Given the description of an element on the screen output the (x, y) to click on. 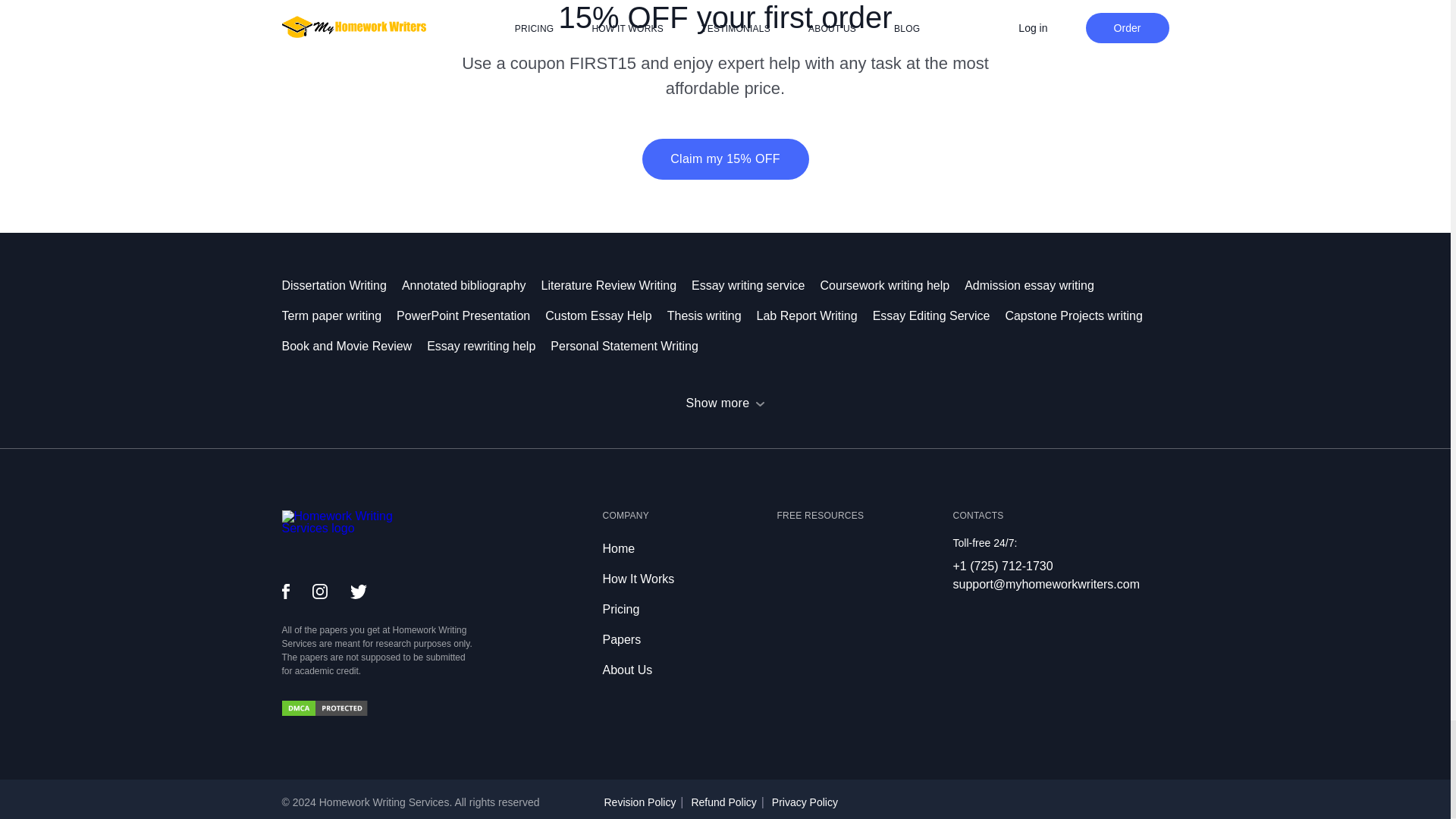
Show more (725, 402)
Personal Statement Writing (631, 345)
Coursework writing help (891, 285)
Annotated bibliography (471, 285)
Essay rewriting help (488, 345)
Custom Essay Help (605, 315)
Thesis writing (711, 315)
Dissertation Writing (341, 285)
Book and Movie Review (355, 345)
Admission essay writing (1036, 285)
